Given the description of an element on the screen output the (x, y) to click on. 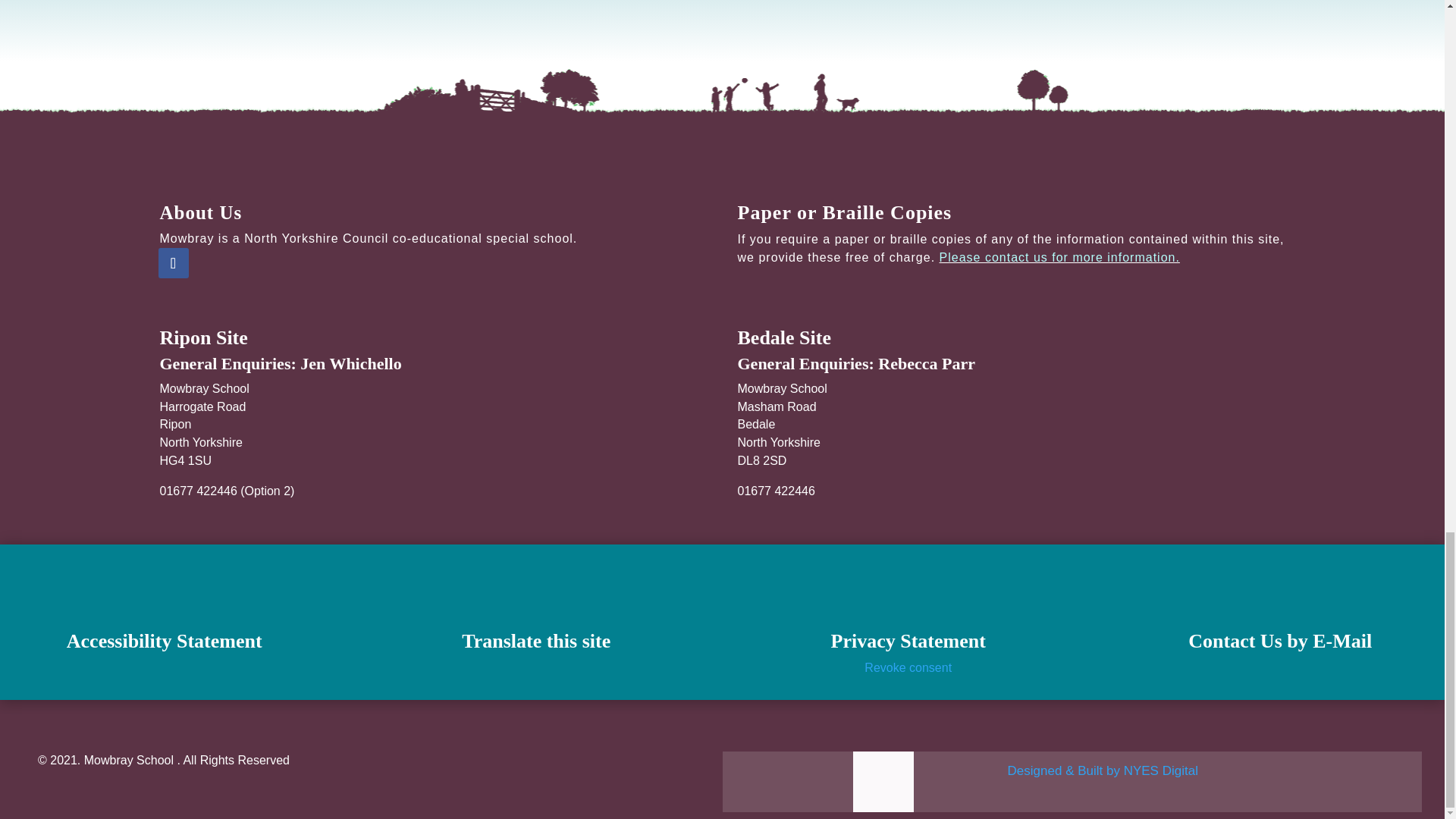
Revoke consent (908, 667)
Follow on Facebook (172, 263)
